Given the description of an element on the screen output the (x, y) to click on. 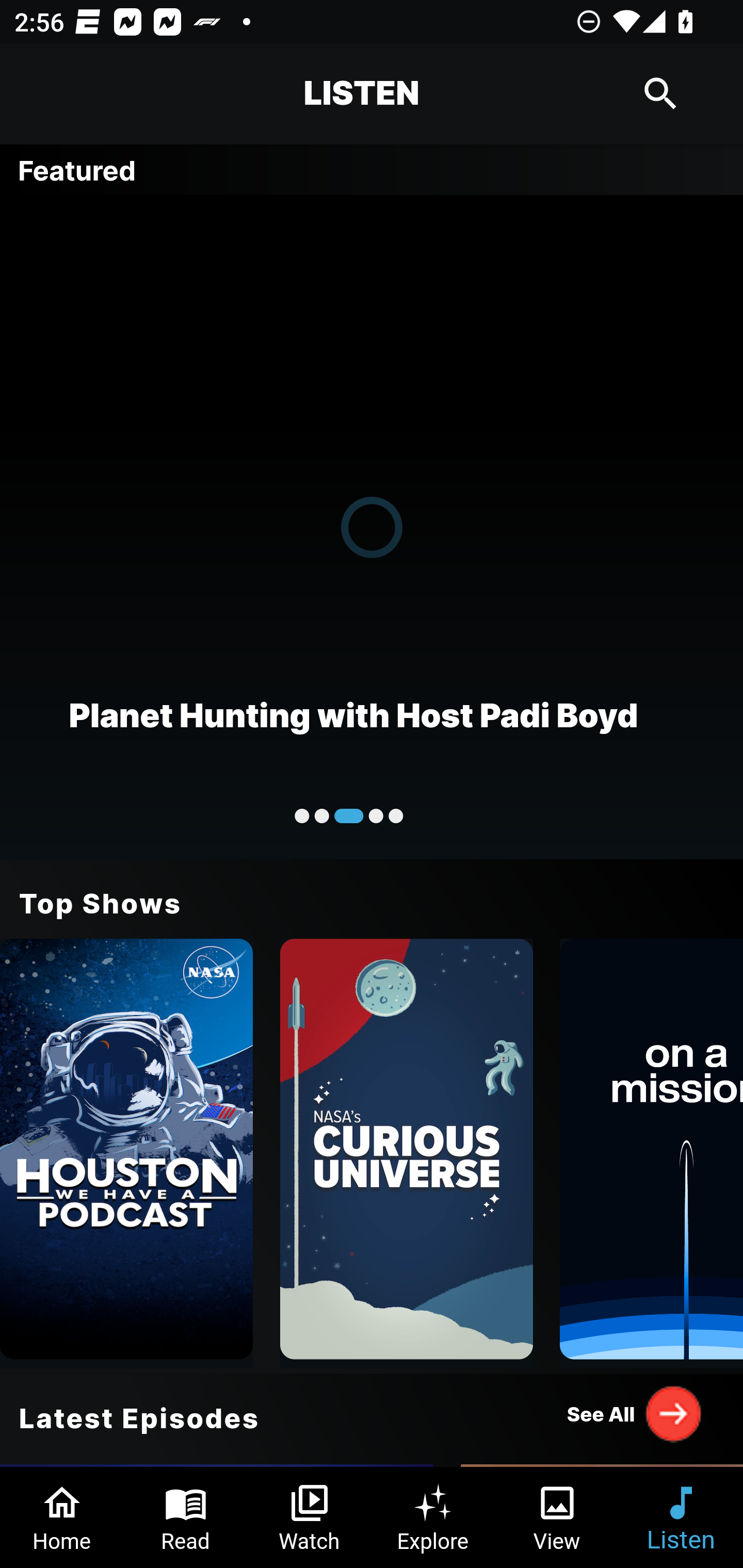
Planet Hunting with Host Padi Boyd (371, 526)
See All (634, 1413)
Home
Tab 1 of 6 (62, 1517)
Read
Tab 2 of 6 (185, 1517)
Watch
Tab 3 of 6 (309, 1517)
Explore
Tab 4 of 6 (433, 1517)
View
Tab 5 of 6 (556, 1517)
Listen
Tab 6 of 6 (680, 1517)
